Given the description of an element on the screen output the (x, y) to click on. 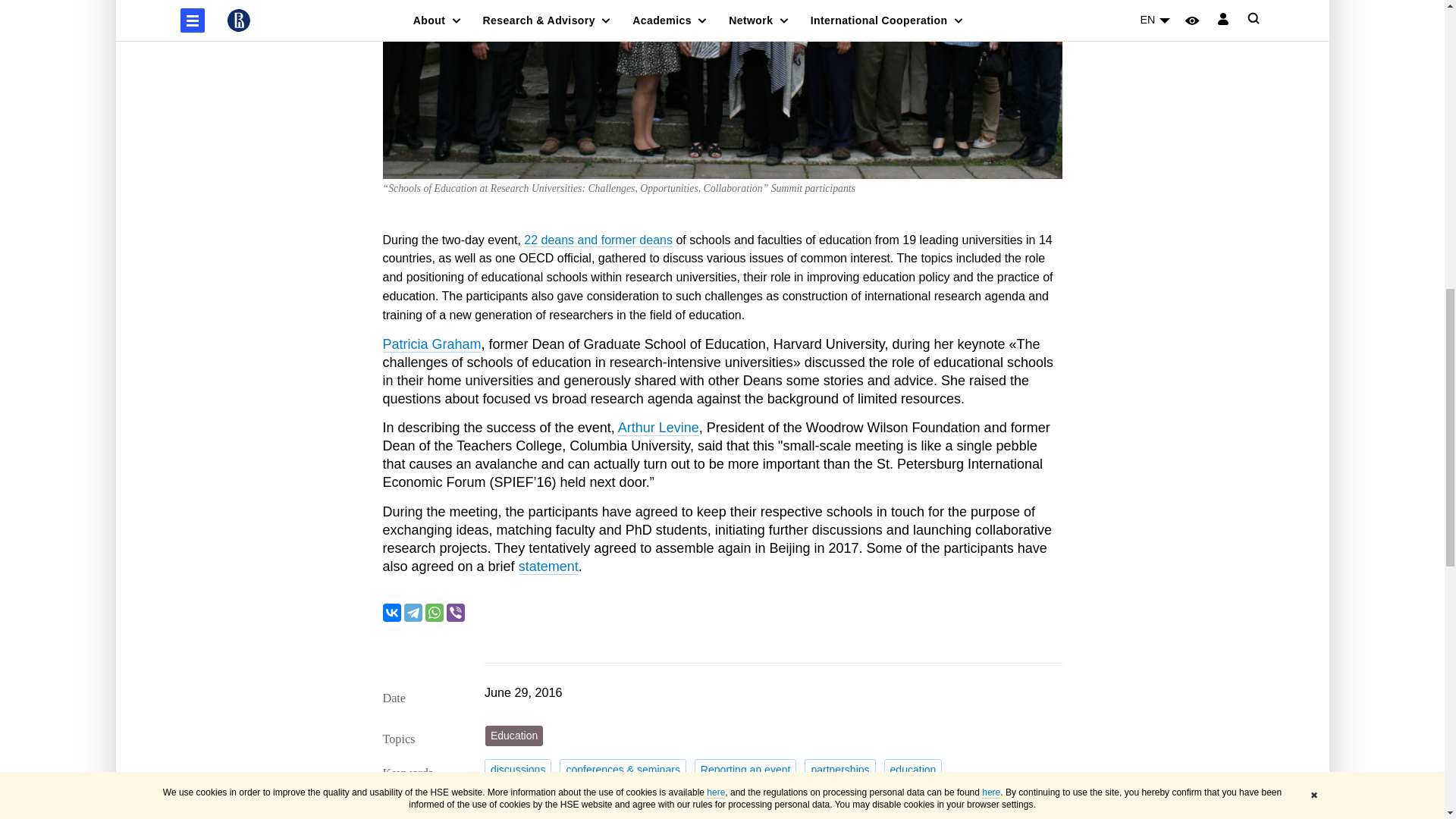
Viber (454, 612)
Reporting an event (745, 770)
international cooperation (548, 797)
discussions (517, 770)
statement (651, 797)
education (912, 770)
partnerships (840, 770)
WhatsApp (433, 612)
VKontakte (390, 612)
Telegram (412, 612)
